Given the description of an element on the screen output the (x, y) to click on. 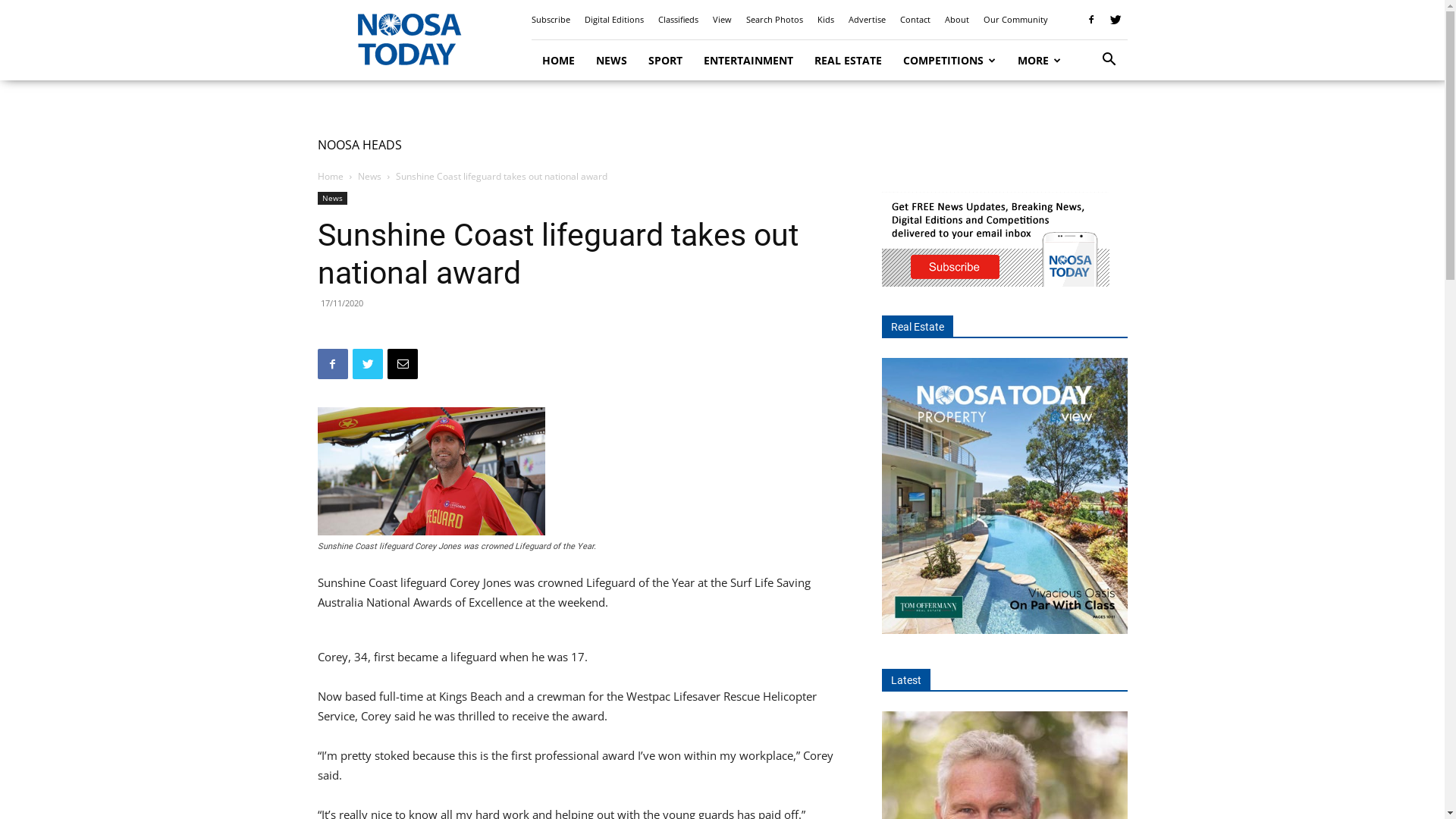
Noosa Today Element type: hover (406, 39)
SPORT Element type: text (664, 60)
Twitter Element type: hover (366, 363)
Subscribe Element type: text (549, 19)
Kids Element type: text (825, 19)
View Element type: text (721, 19)
News Element type: text (331, 197)
REAL ESTATE Element type: text (847, 60)
Twitter Element type: hover (1115, 19)
ENTERTAINMENT Element type: text (748, 60)
COMPETITIONS Element type: text (948, 60)
Classifieds Element type: text (678, 19)
Advertise Element type: text (865, 19)
NT20NOV20_221163_01.jpg Element type: hover (430, 471)
Facebook Element type: hover (331, 363)
HOME Element type: text (557, 60)
MORE Element type: text (1039, 60)
Search Photos Element type: text (774, 19)
Digital Editions Element type: text (613, 19)
Our Community Element type: text (1014, 19)
NEWS Element type: text (611, 60)
Contact Element type: text (914, 19)
Email Element type: hover (401, 363)
Home Element type: text (329, 175)
Search Element type: text (1085, 122)
News Element type: text (369, 175)
About Element type: text (956, 19)
Facebook Element type: hover (1090, 19)
